Given the description of an element on the screen output the (x, y) to click on. 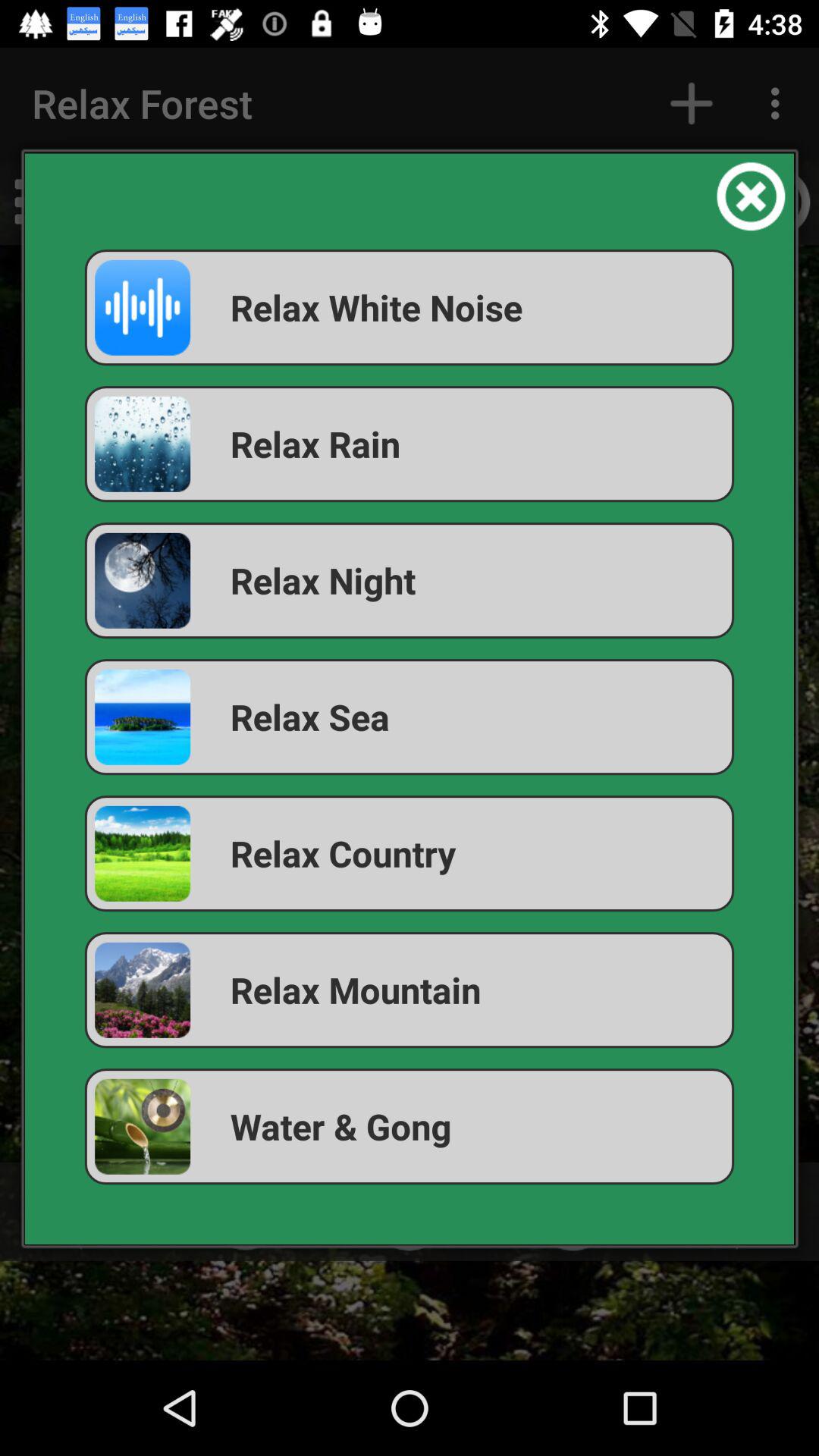
choose app above the relax country app (409, 717)
